Given the description of an element on the screen output the (x, y) to click on. 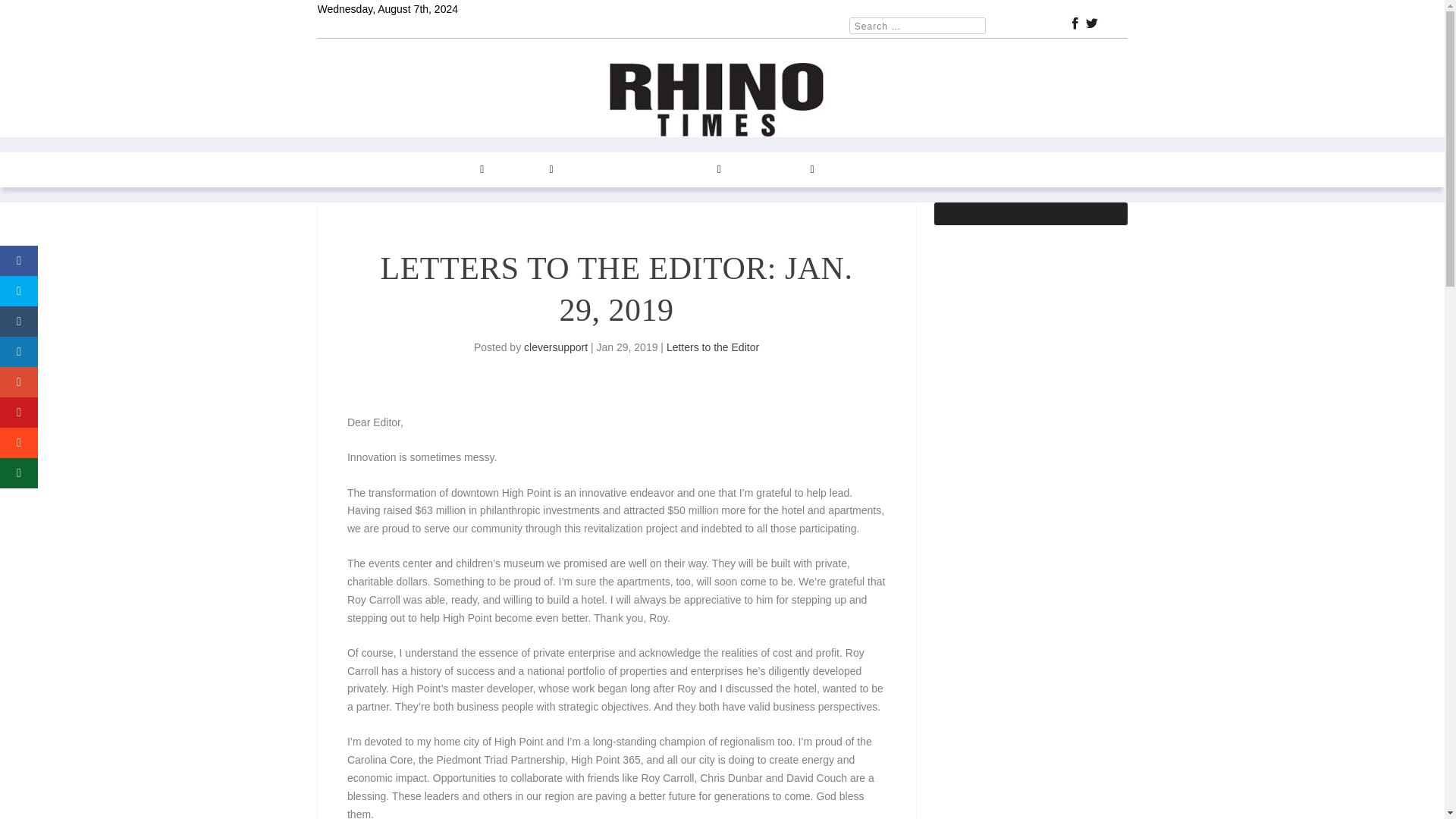
Posts by cleversupport (556, 346)
NEWS (390, 169)
Search (31, 13)
HOME (342, 169)
ABOUT US (858, 169)
OBITUARIES (935, 169)
ARCHIVES (689, 169)
COLUMNS (453, 169)
cleversupport (556, 346)
OPINION (526, 169)
CONTACT US (775, 169)
Letters to the Editor (712, 346)
REAL ESTATE (606, 169)
